Given the description of an element on the screen output the (x, y) to click on. 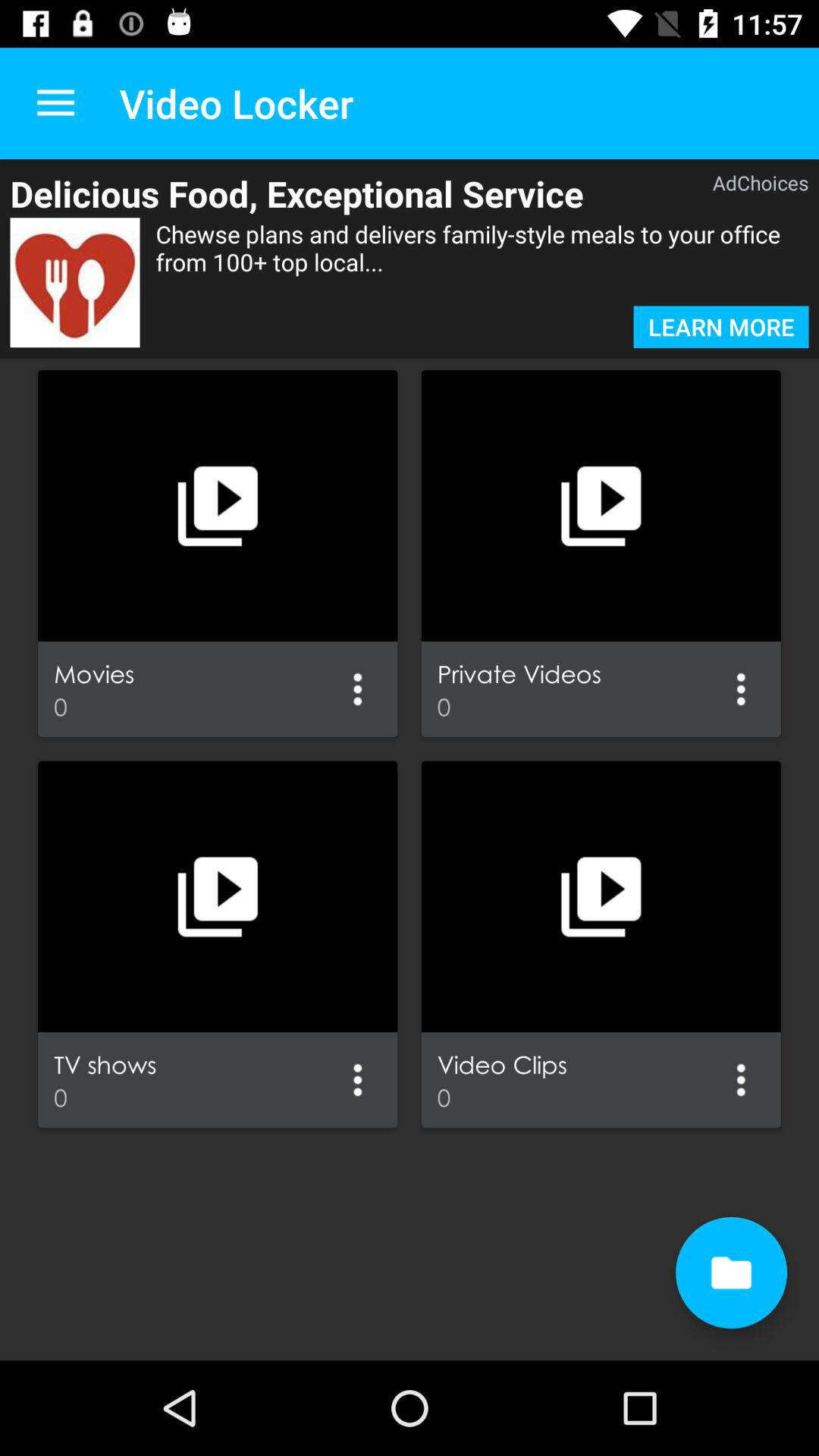
open folder menu (357, 689)
